Given the description of an element on the screen output the (x, y) to click on. 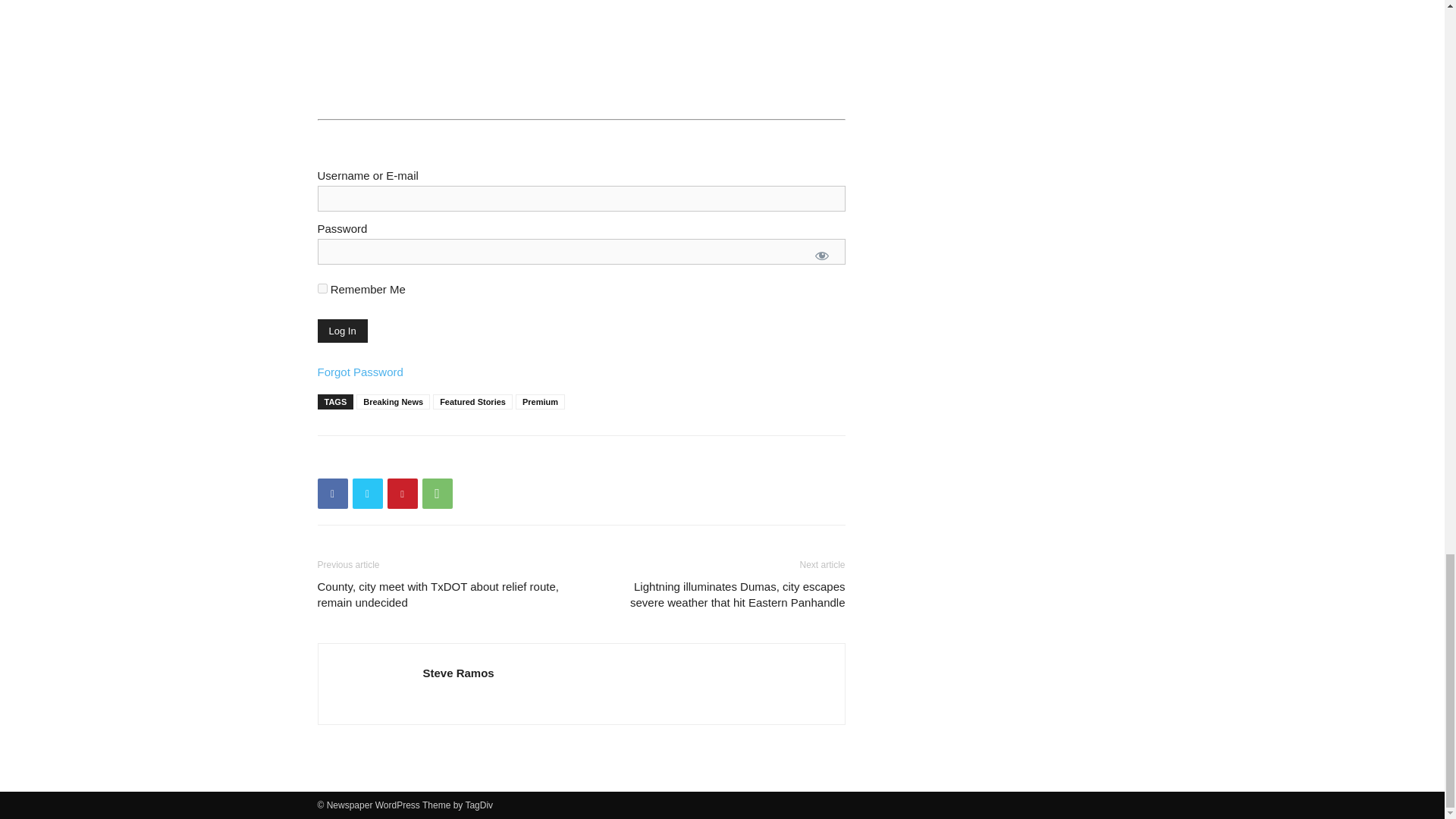
Log In (341, 331)
Twitter (366, 493)
forever (321, 288)
Facebook (332, 493)
bottomFacebookLike (430, 459)
Pinterest (401, 493)
